Given the description of an element on the screen output the (x, y) to click on. 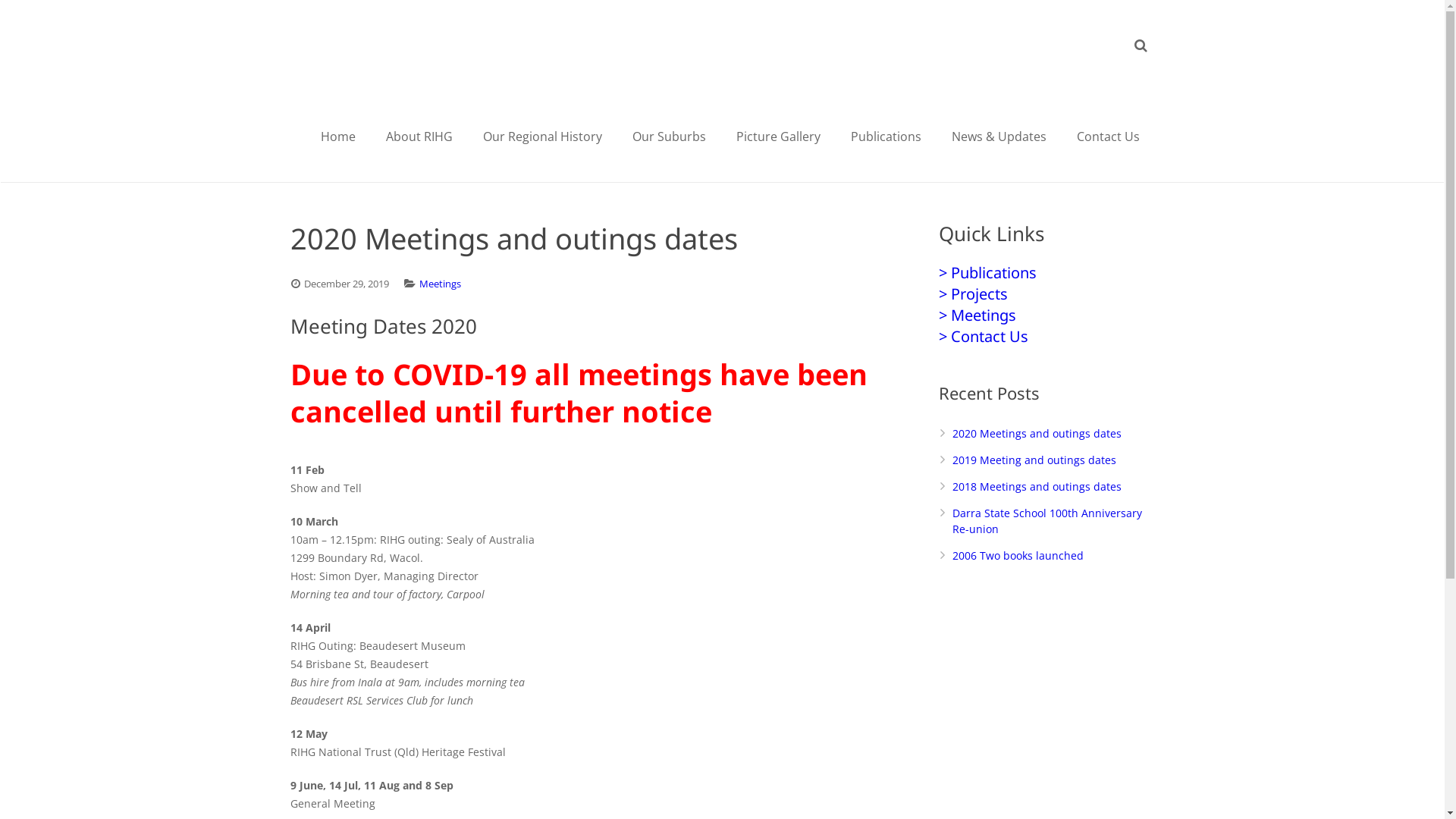
Our Regional History Element type: text (541, 136)
2020 Meetings and outings dates Element type: text (1036, 433)
About RIHG Element type: text (418, 136)
News & Updates Element type: text (997, 136)
Darra State School 100th Anniversary Re-union Element type: text (1047, 520)
Search Element type: text (48, 15)
Contact Us Element type: text (1107, 136)
Home Element type: text (337, 136)
Recent Posts Element type: text (1046, 392)
> Projects Element type: text (972, 293)
Picture Gallery Element type: text (777, 136)
Our Suburbs Element type: text (669, 136)
2019 Meeting and outings dates Element type: text (1034, 459)
Meetings Element type: text (439, 283)
> Meetings Element type: text (977, 314)
Publications Element type: text (885, 136)
2018 Meetings and outings dates Element type: text (1036, 486)
2006 Two books launched Element type: text (1017, 555)
> Publications Element type: text (987, 272)
> Contact Us Element type: text (983, 336)
